Given the description of an element on the screen output the (x, y) to click on. 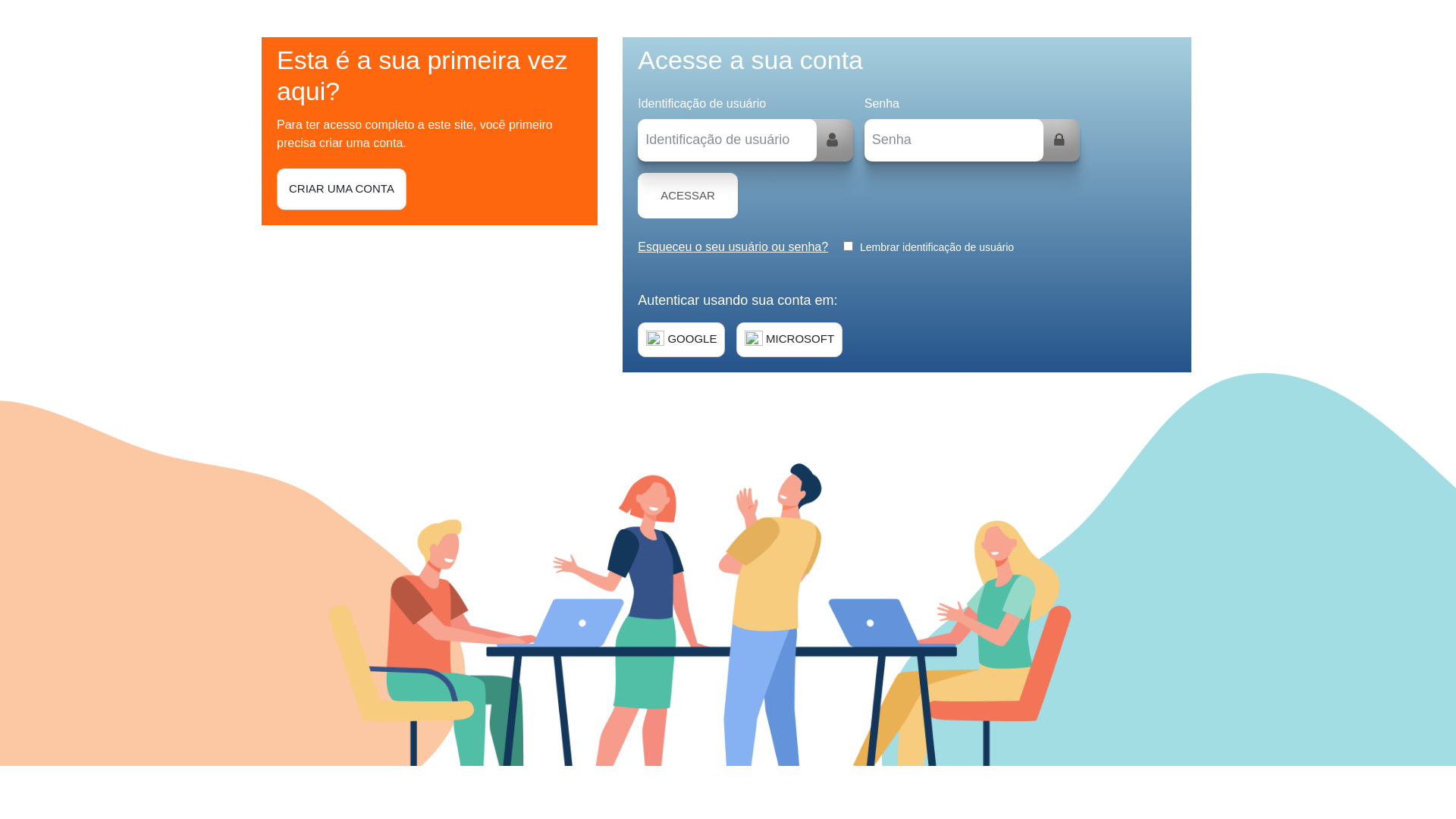
CRIAR UMA CONTA Element type: text (341, 189)
GOOGLE Element type: text (680, 339)
MICROSOFT Element type: text (789, 339)
ACESSAR Element type: text (687, 195)
